Given the description of an element on the screen output the (x, y) to click on. 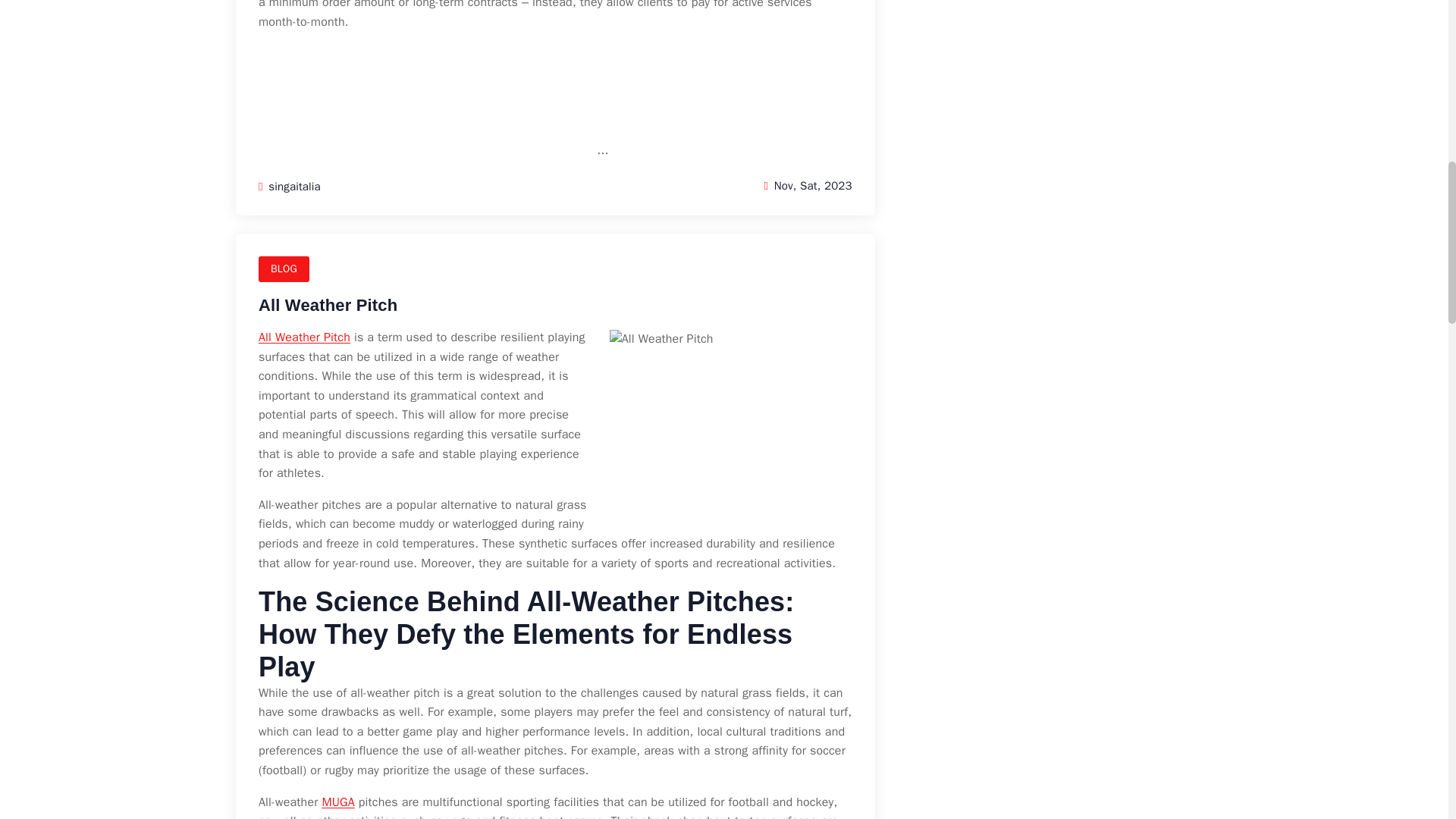
MUGA (337, 801)
singaitalia (289, 185)
All Weather Pitch (328, 304)
All Weather Pitch (304, 337)
BLOG (283, 268)
Nov, Sat, 2023 (806, 185)
